Given the description of an element on the screen output the (x, y) to click on. 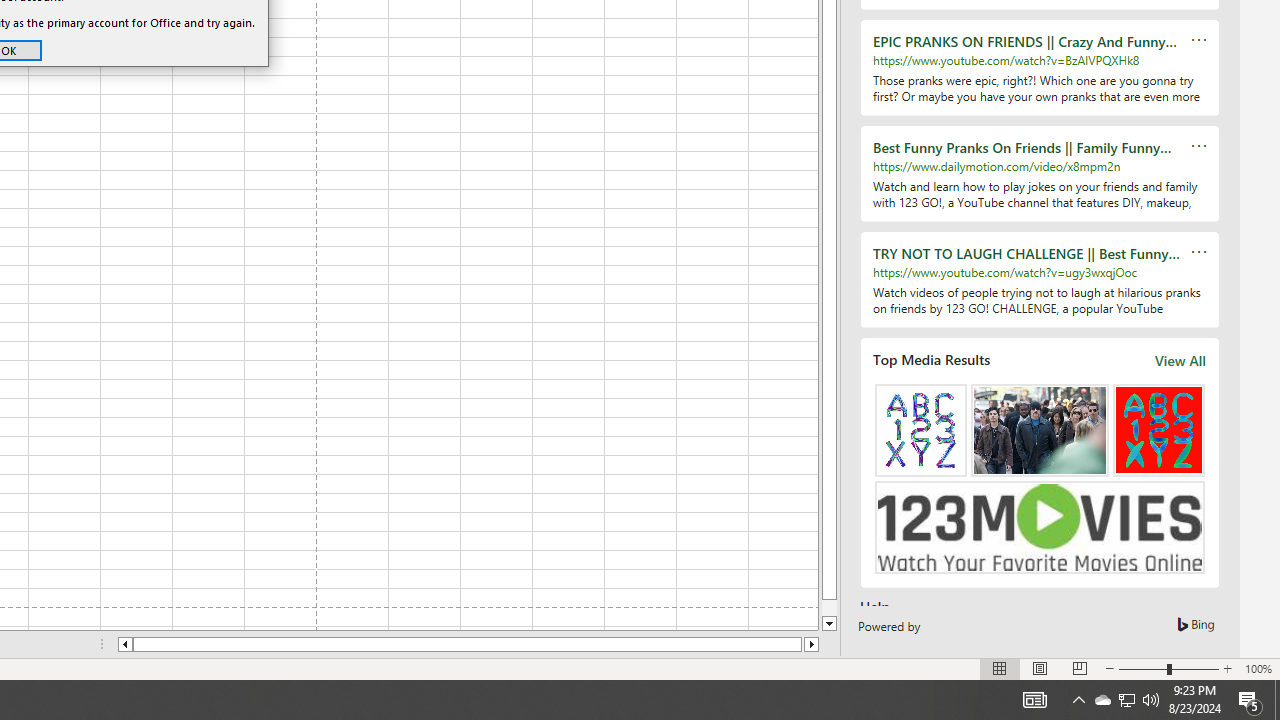
Zoom Out (1142, 668)
Notification Chevron (1078, 699)
Normal (1000, 668)
Page Break Preview (1079, 668)
Action Center, 5 new notifications (1250, 699)
Page down (829, 607)
Q2790: 100% (1151, 699)
User Promoted Notification Area (1102, 699)
Zoom In (1126, 699)
Class: NetUIScrollBar (1227, 668)
Zoom (468, 644)
AutomationID: 4105 (1168, 668)
Column left (1034, 699)
